Given the description of an element on the screen output the (x, y) to click on. 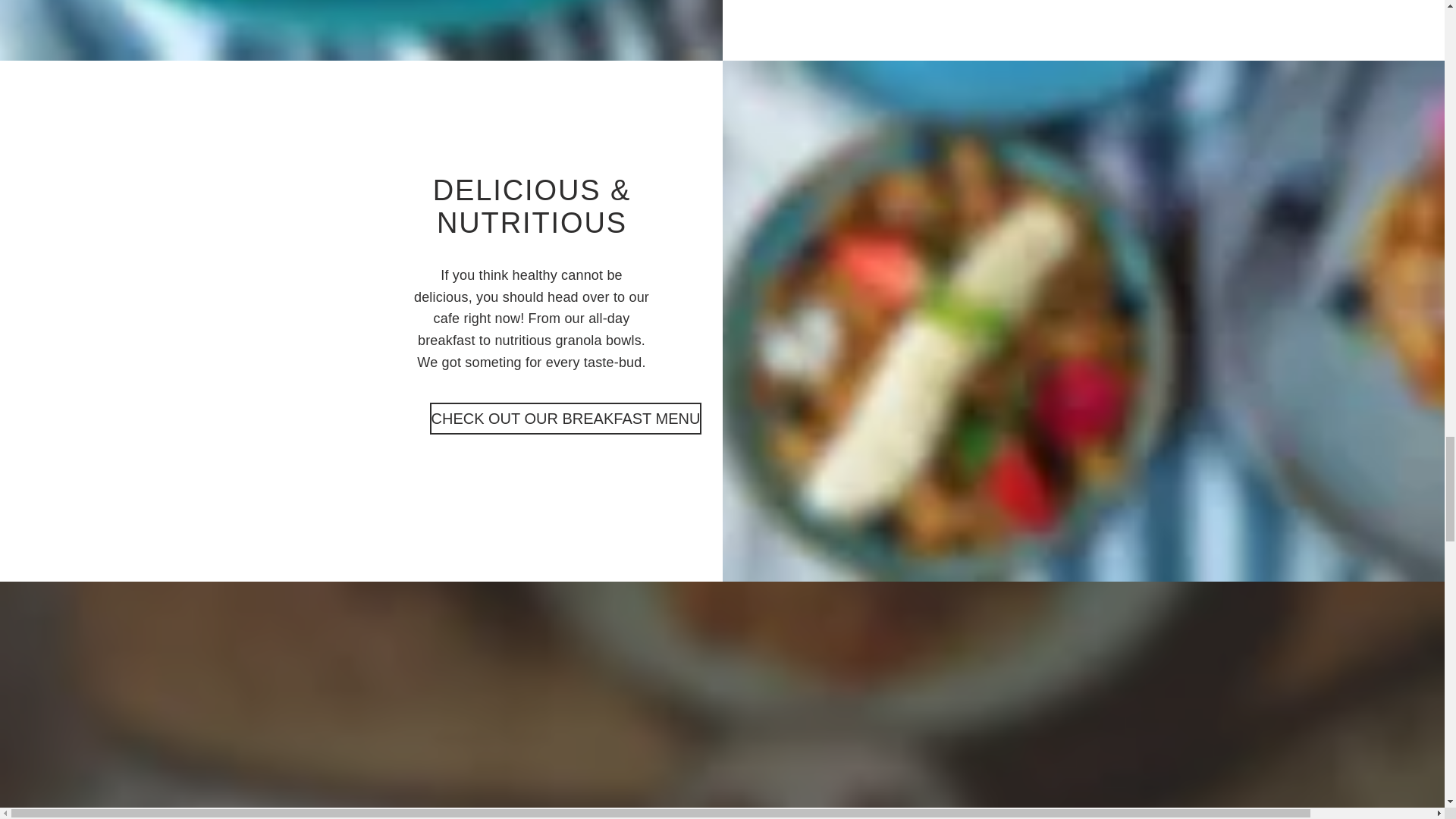
CHECK OUT OUR BREAKFAST MENU (565, 418)
